Given the description of an element on the screen output the (x, y) to click on. 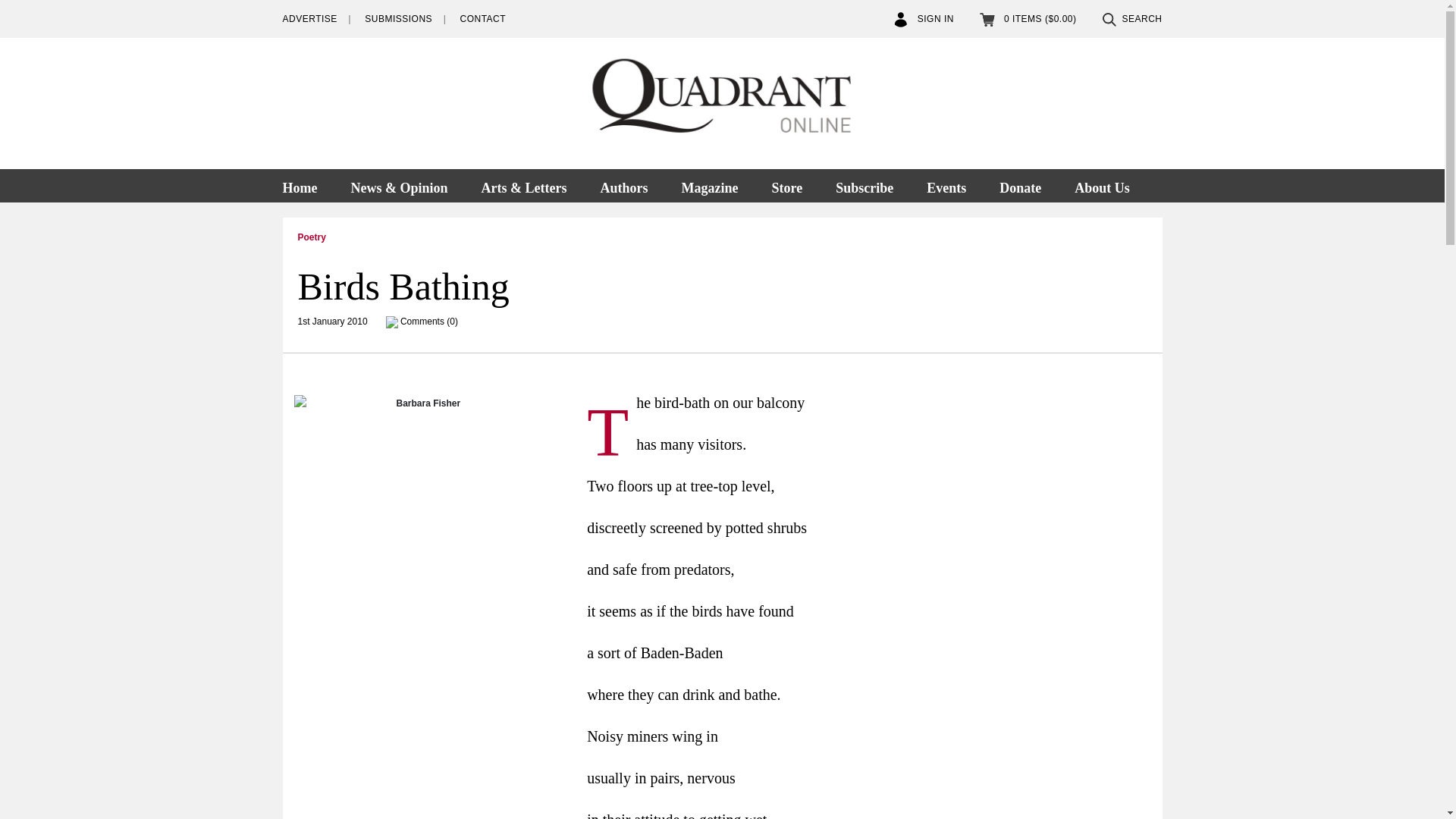
Magazine (708, 185)
ADVERTISE (309, 18)
SEARCH (1131, 18)
Authors (623, 185)
About Us (1101, 185)
Events (946, 185)
CONTACT (482, 18)
Donate (1020, 185)
SUBMISSIONS (398, 18)
Subscribe (864, 185)
